Given the description of an element on the screen output the (x, y) to click on. 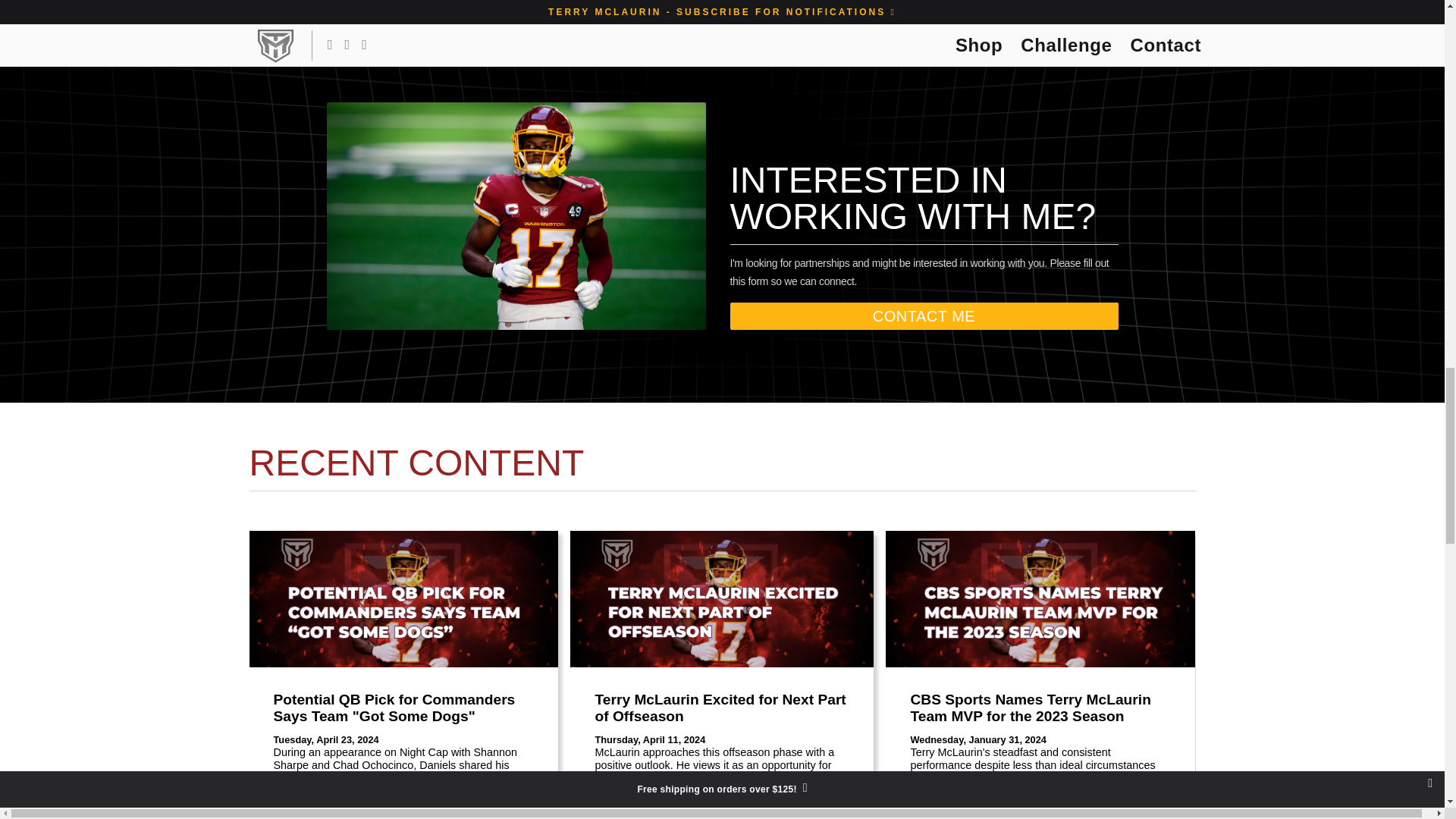
CONTACT ME (923, 316)
